Given the description of an element on the screen output the (x, y) to click on. 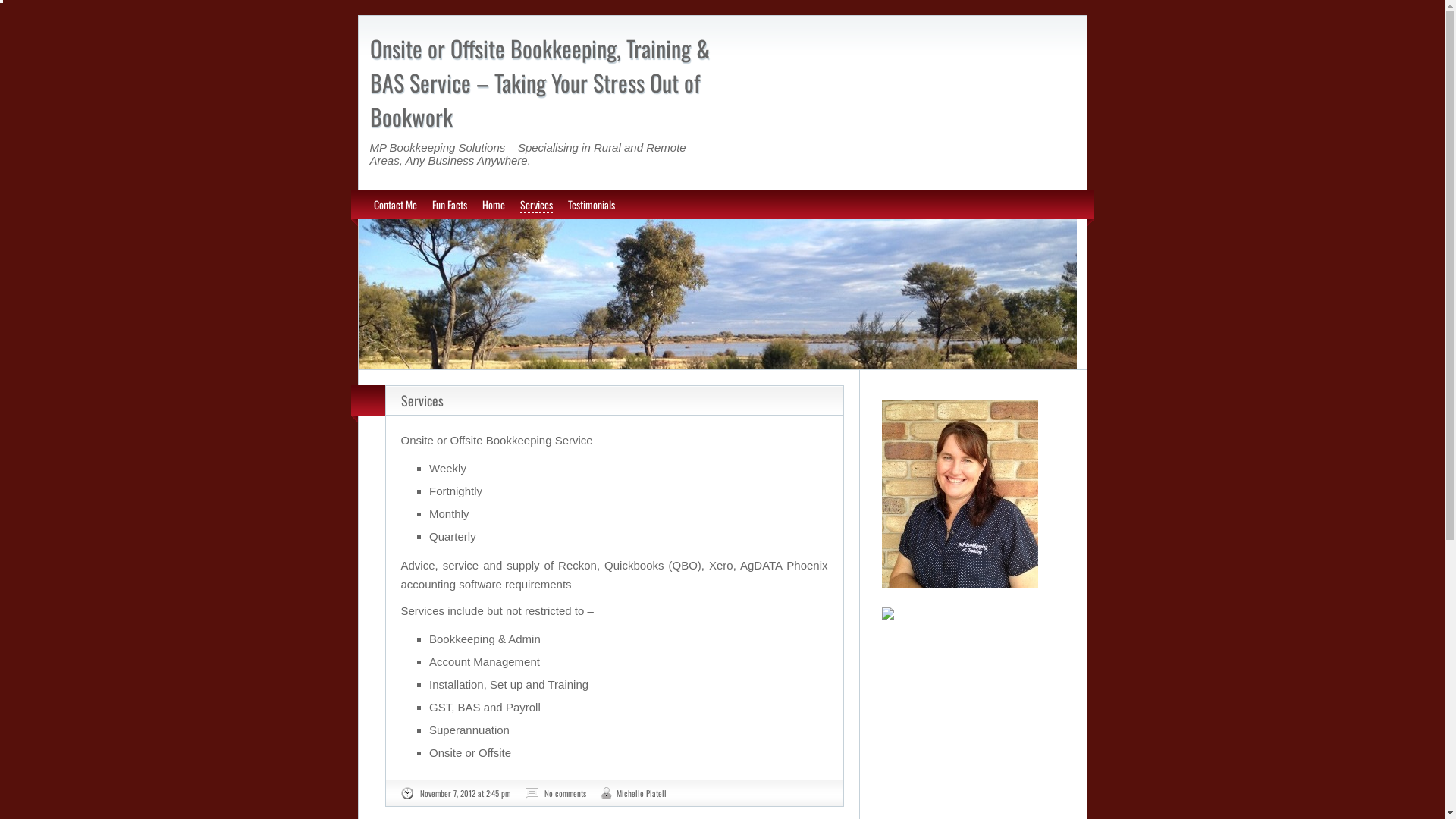
Services Element type: text (421, 400)
No comments Element type: text (565, 793)
Fun Facts Element type: text (449, 204)
Testimonials Element type: text (590, 204)
Contact Me Element type: text (394, 204)
November 7, 2012 at 2:45 pm Element type: text (465, 793)
Home Element type: text (493, 204)
Michelle Platell Element type: text (640, 793)
Services Element type: text (536, 204)
